Given the description of an element on the screen output the (x, y) to click on. 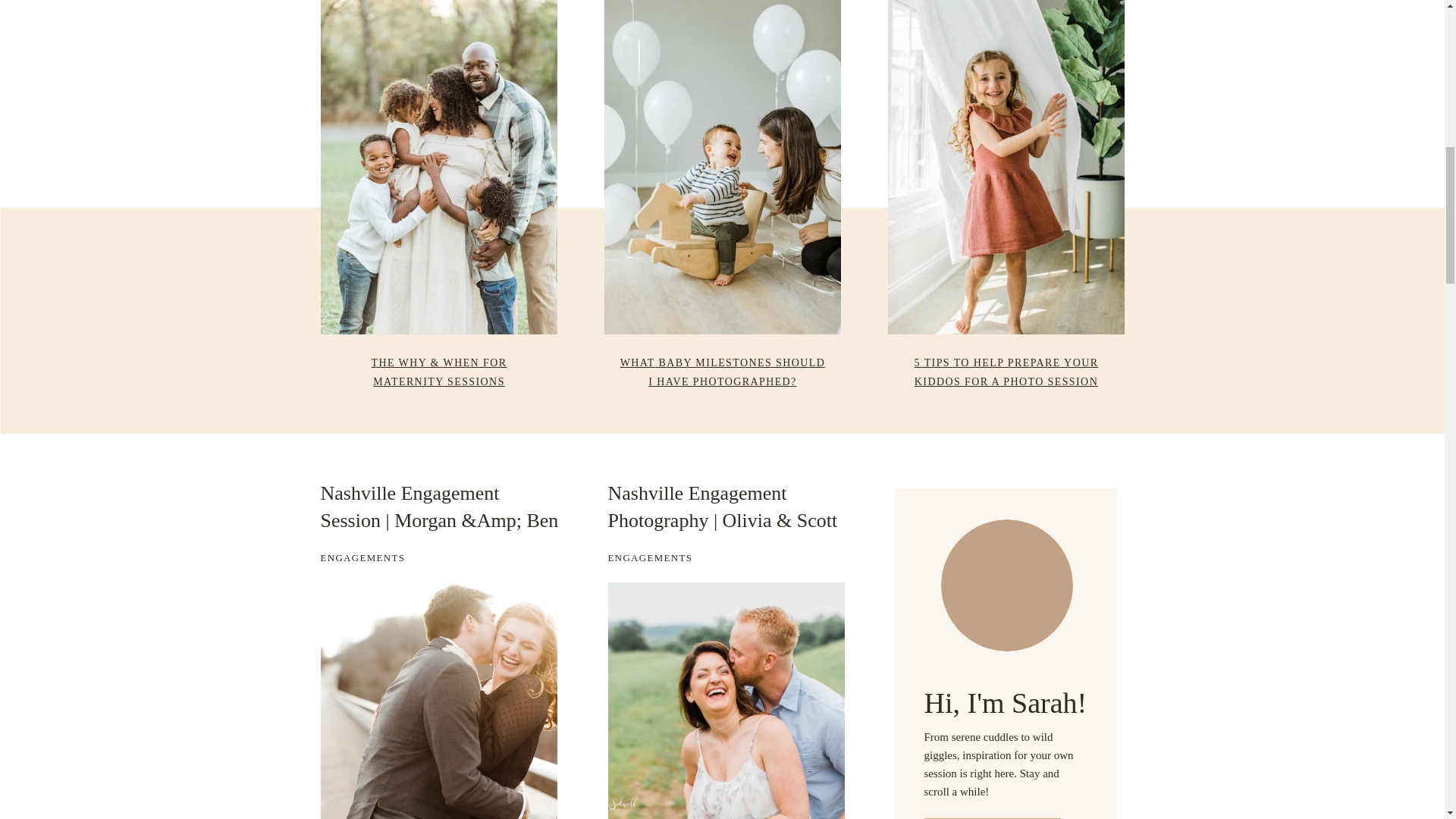
ENGAGEMENTS (362, 557)
WHAT BABY MILESTONES SHOULD I HAVE PHOTOGRAPHED? (722, 372)
5 TIPS TO HELP PREPARE YOUR KIDDOS FOR A PHOTO SESSION (1006, 372)
ENGAGEMENTS (650, 557)
